Given the description of an element on the screen output the (x, y) to click on. 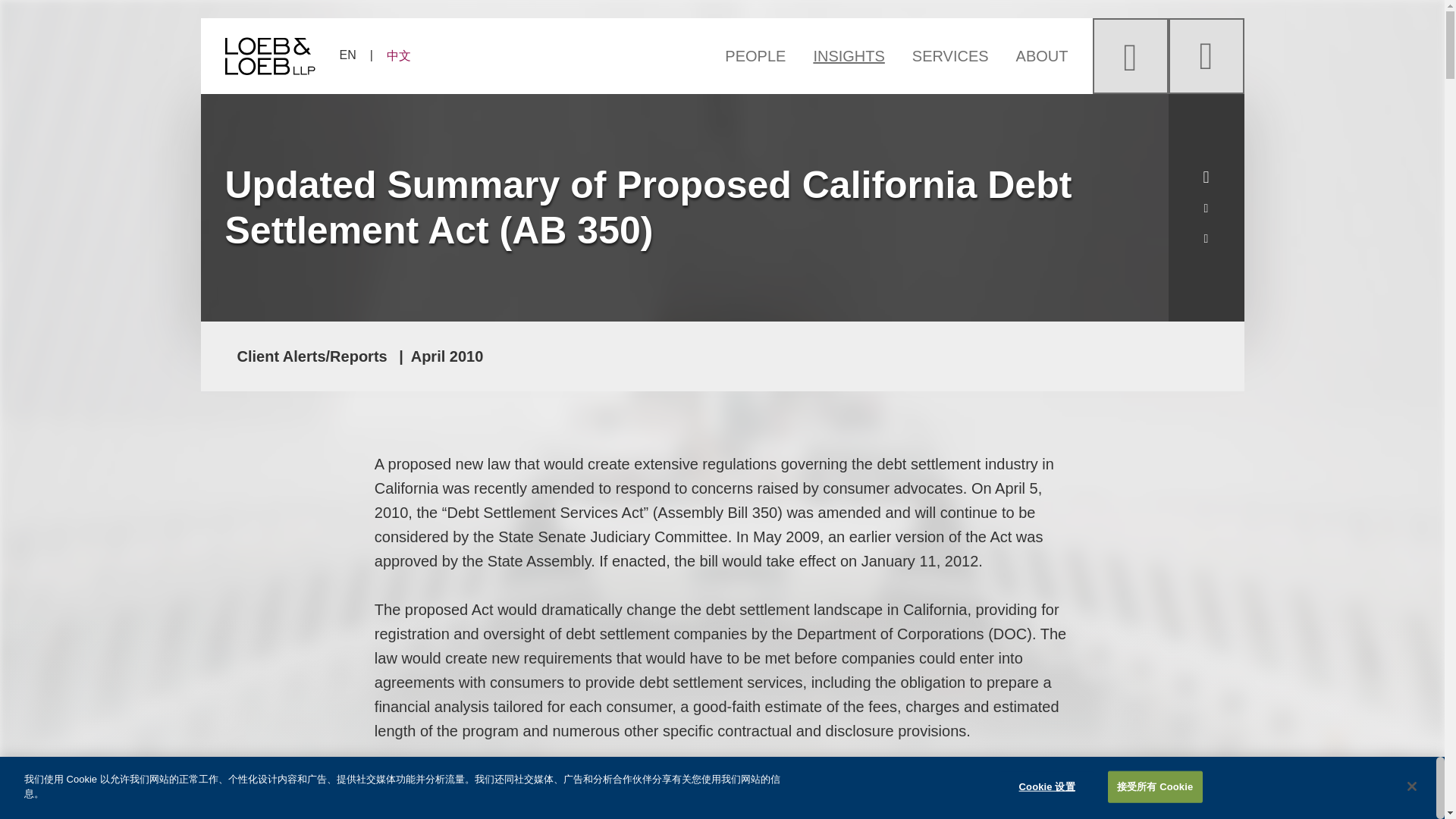
SERVICES (950, 54)
INSIGHTS (848, 54)
PEOPLE (762, 54)
ABOUT (1035, 54)
